Given the description of an element on the screen output the (x, y) to click on. 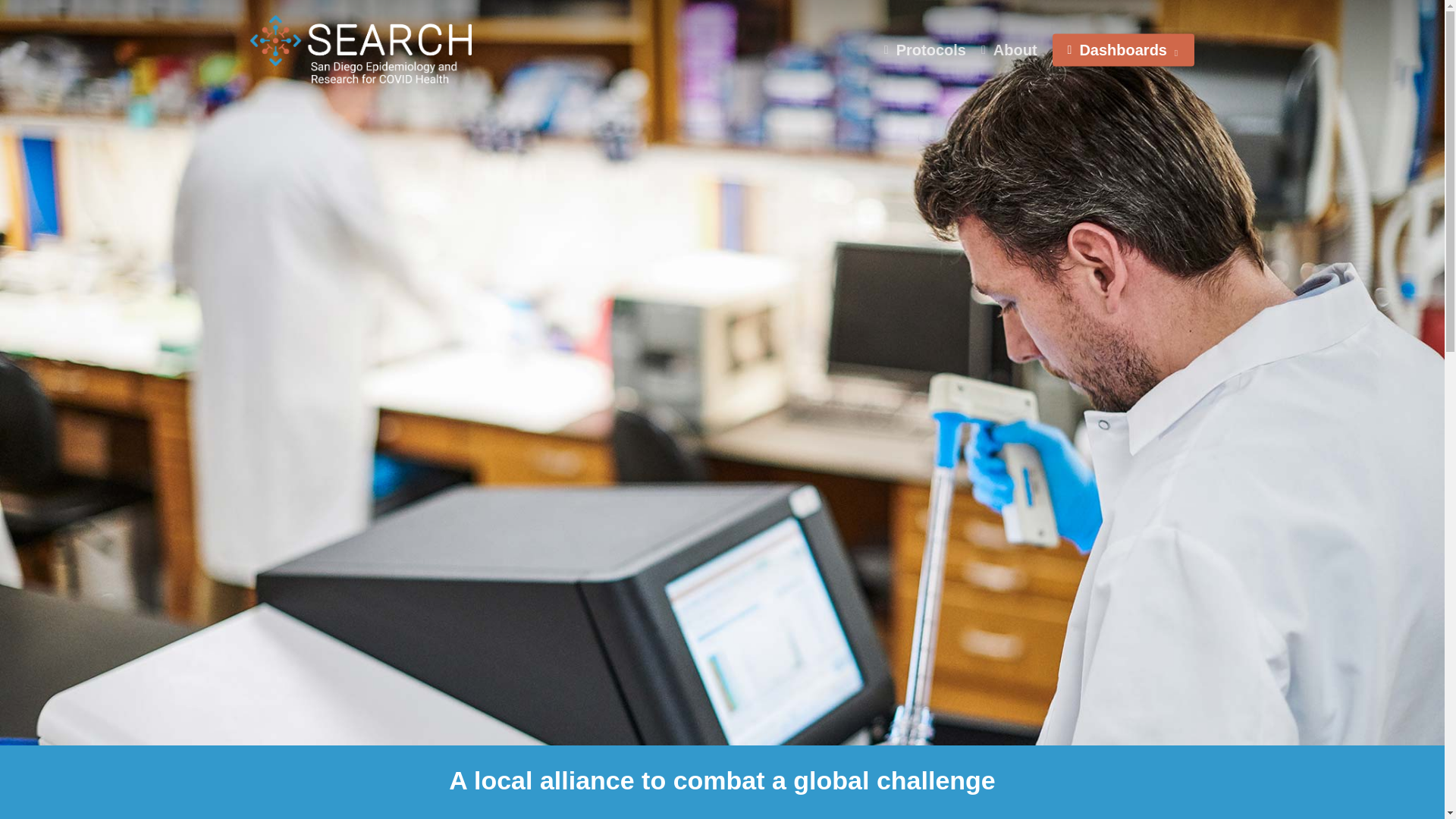
Dashboards (1122, 49)
Protocols (924, 49)
Privacy (392, 795)
email (1191, 793)
github (1170, 793)
About (1008, 49)
